Given the description of an element on the screen output the (x, y) to click on. 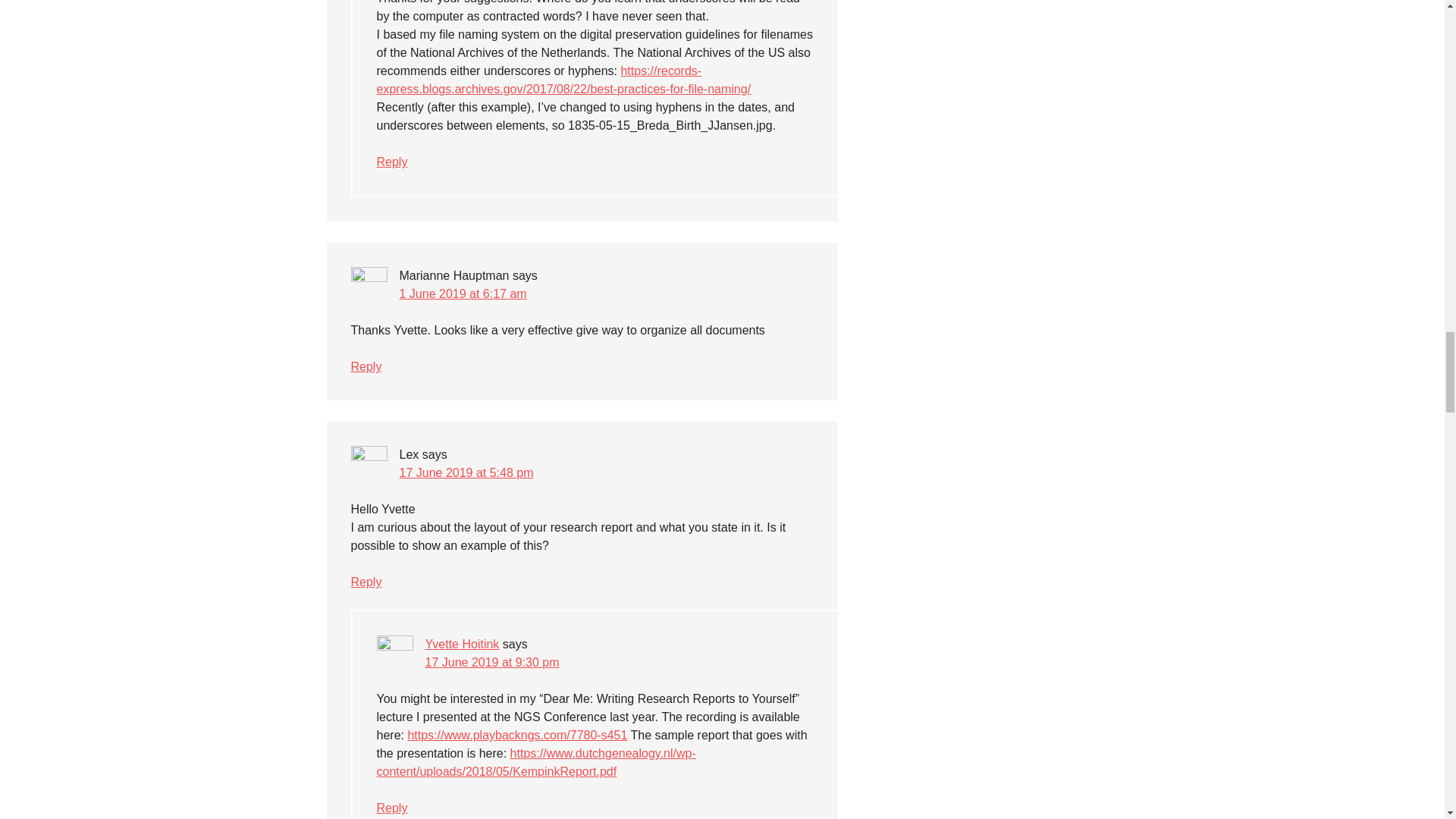
Reply (391, 161)
17 June 2019 at 9:30 pm (492, 662)
Yvette Hoitink (462, 644)
17 June 2019 at 5:48 pm (465, 472)
Reply (365, 581)
Reply (365, 366)
1 June 2019 at 6:17 am (461, 293)
